Given the description of an element on the screen output the (x, y) to click on. 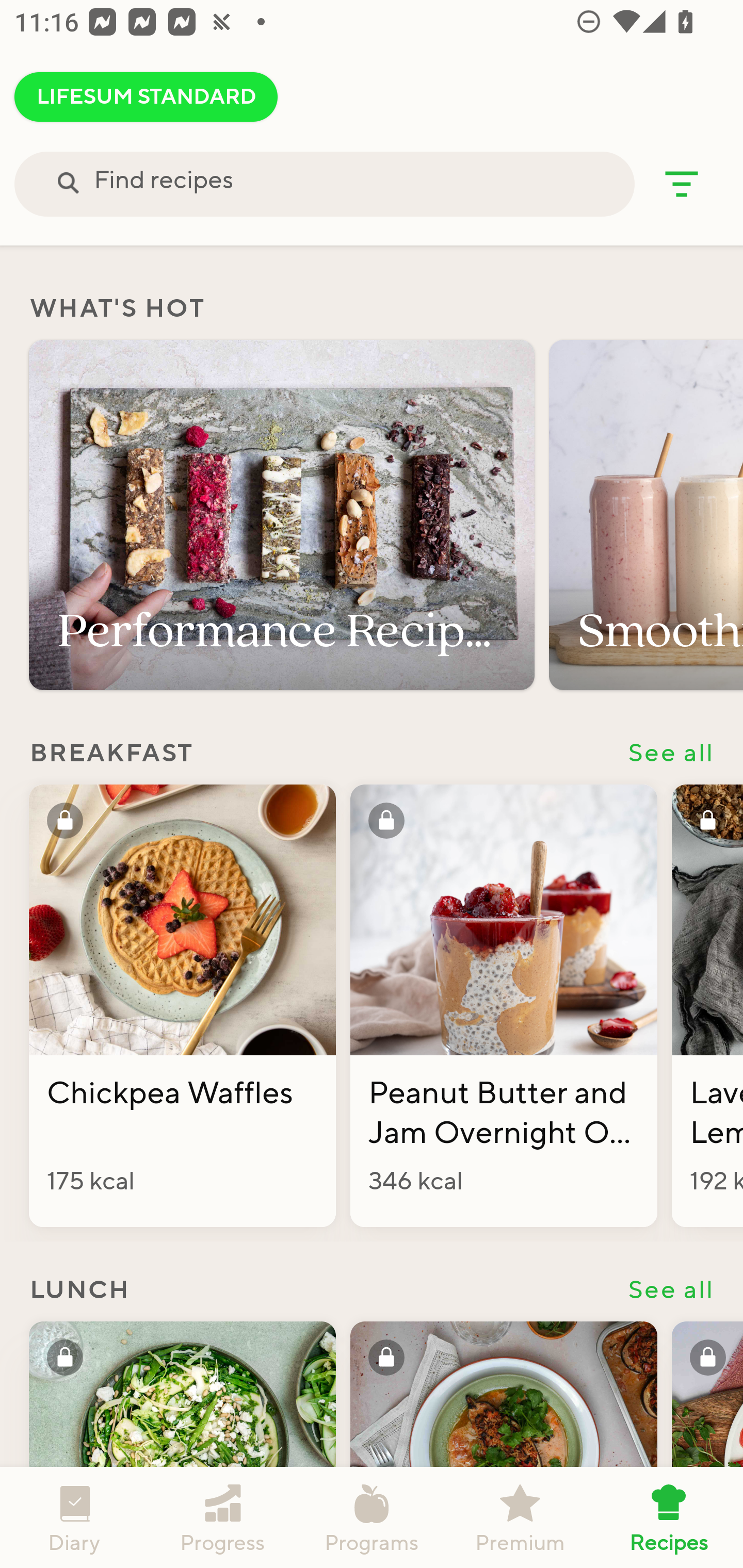
Find recipes (324, 184)
Performance Recipes (281, 514)
Smoothies (646, 514)
BREAKFAST See all (371, 751)
Chickpea Waffles 175 kcal (181, 1005)
Peanut Butter and Jam Overnight Oats 346 kcal (503, 1005)
LUNCH See all (371, 1288)
Diary (74, 1517)
Progress (222, 1517)
Programs (371, 1517)
Premium (519, 1517)
